Given the description of an element on the screen output the (x, y) to click on. 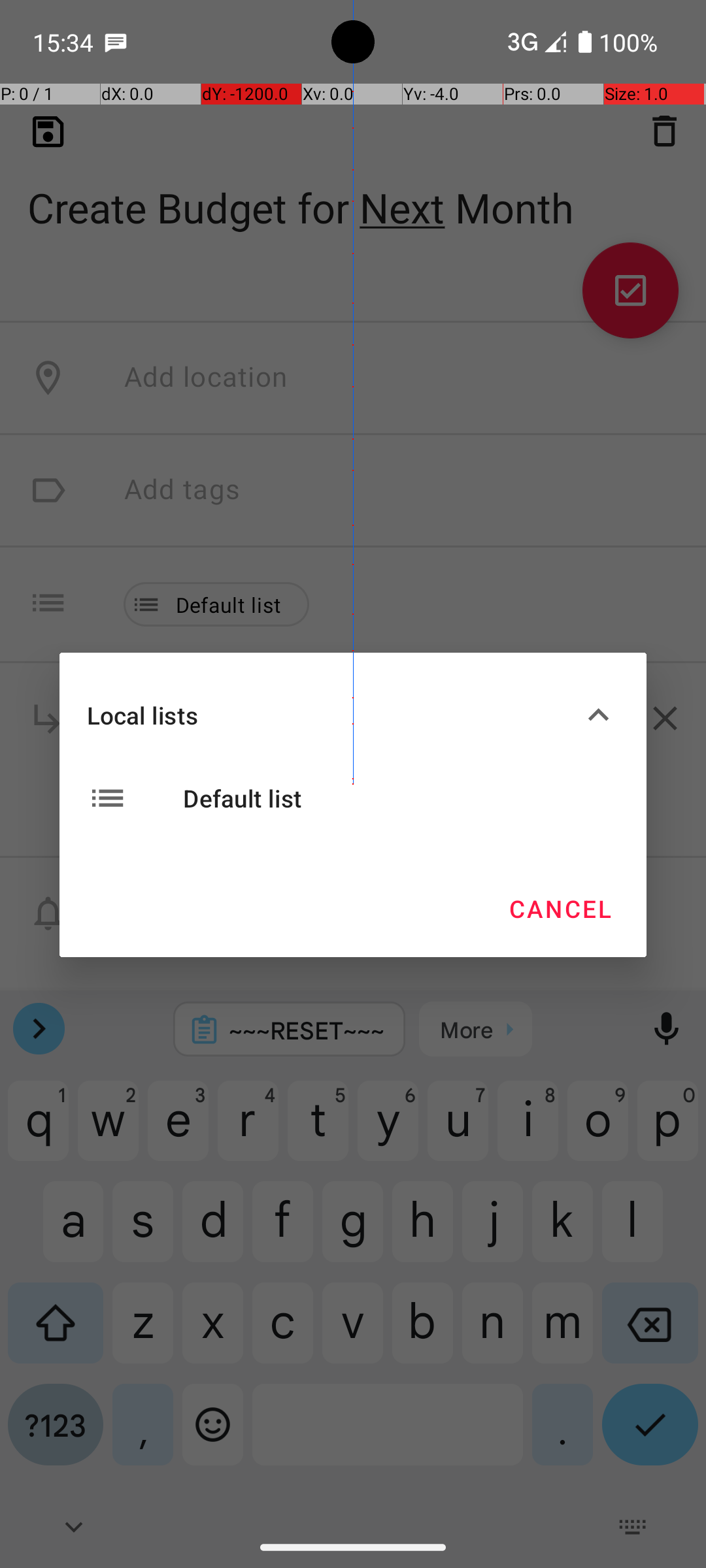
Local lists Element type: android.widget.TextView (331, 715)
